Given the description of an element on the screen output the (x, y) to click on. 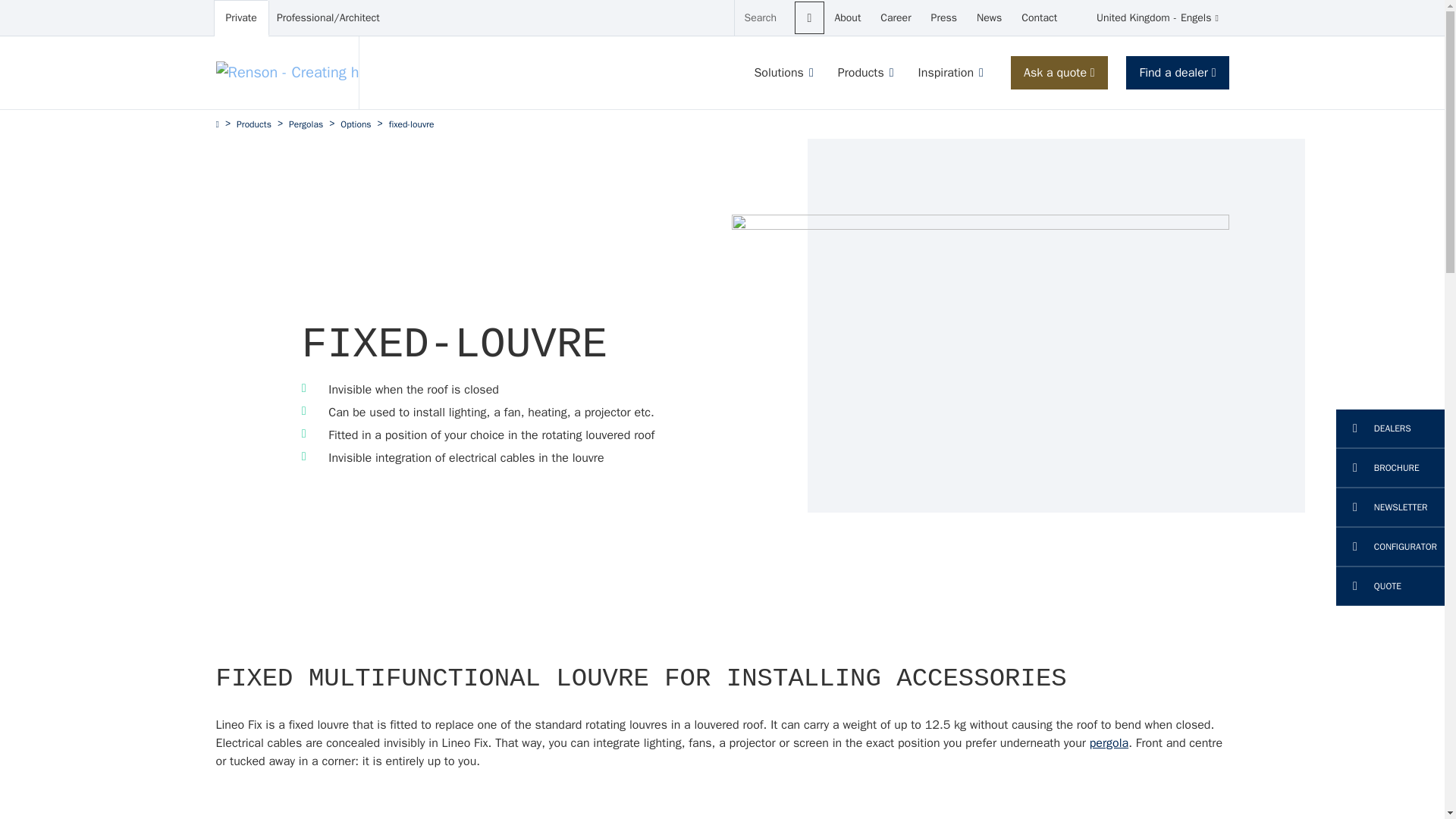
Press (943, 17)
Contact (1039, 17)
Private (240, 17)
Career (895, 17)
Solutions (778, 72)
Career (895, 17)
About (847, 17)
Search (1147, 17)
News (809, 17)
Contact (988, 17)
News (1039, 17)
About (988, 17)
Press (847, 17)
